Given the description of an element on the screen output the (x, y) to click on. 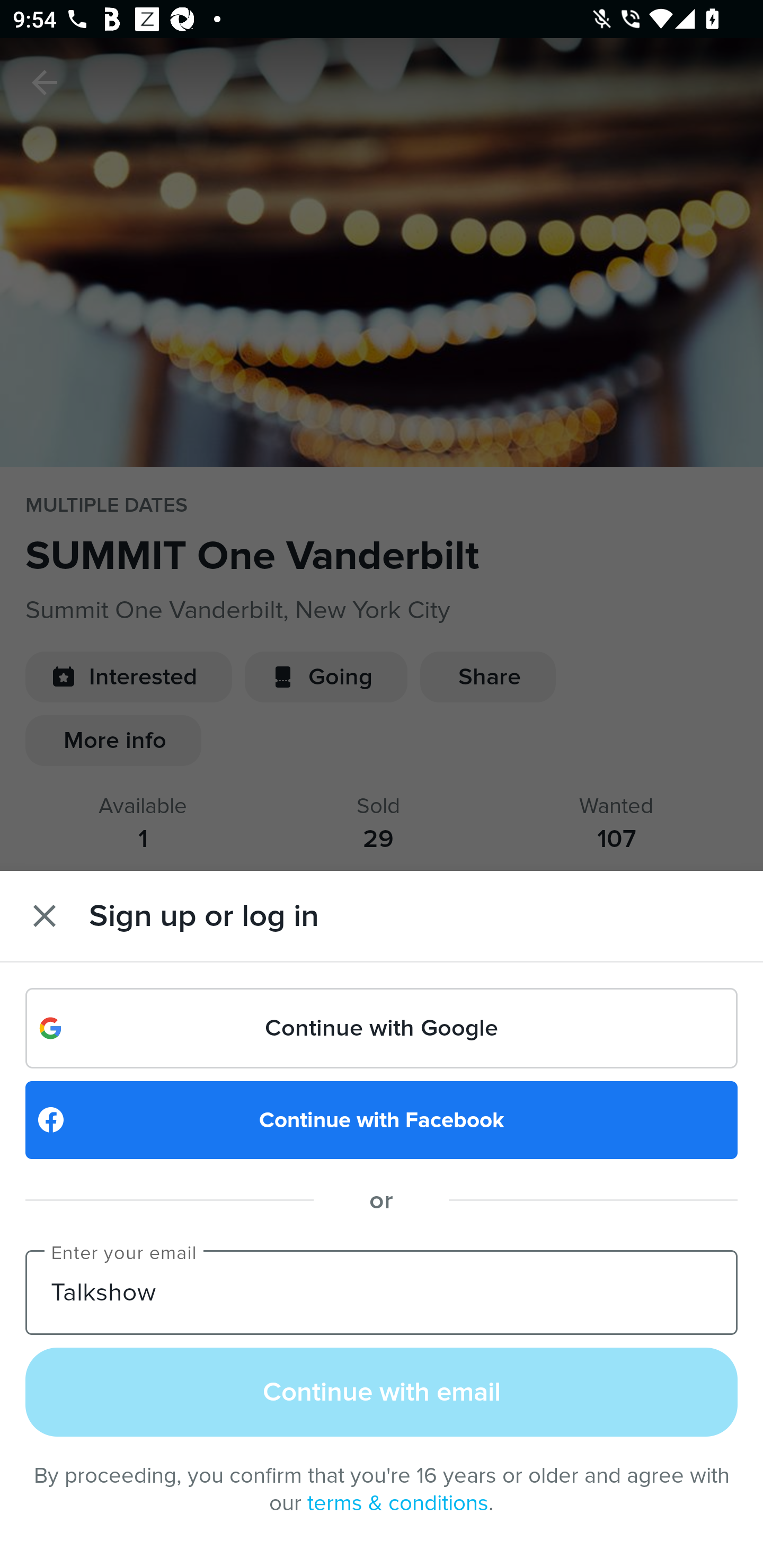
Continue with Google (381, 1027)
Continue with Facebook (381, 1119)
Talkshow (381, 1291)
Continue with email (381, 1391)
